Given the description of an element on the screen output the (x, y) to click on. 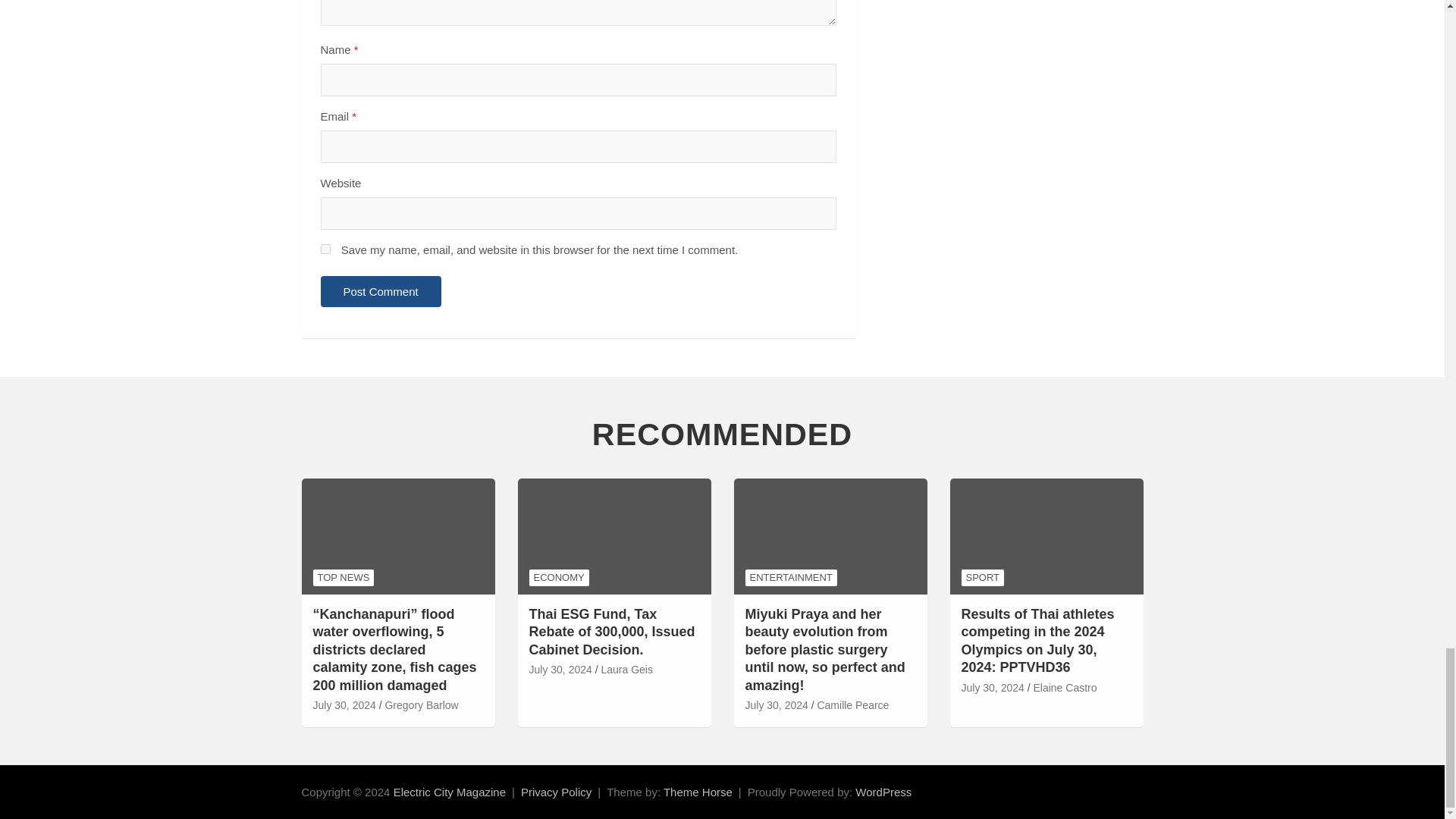
Gregory Barlow (421, 705)
Post Comment (380, 291)
Post Comment (380, 291)
yes (325, 248)
TOP NEWS (343, 577)
Electric City Magazine (449, 791)
WordPress (883, 791)
Theme Horse (697, 791)
July 30, 2024 (344, 705)
